Given the description of an element on the screen output the (x, y) to click on. 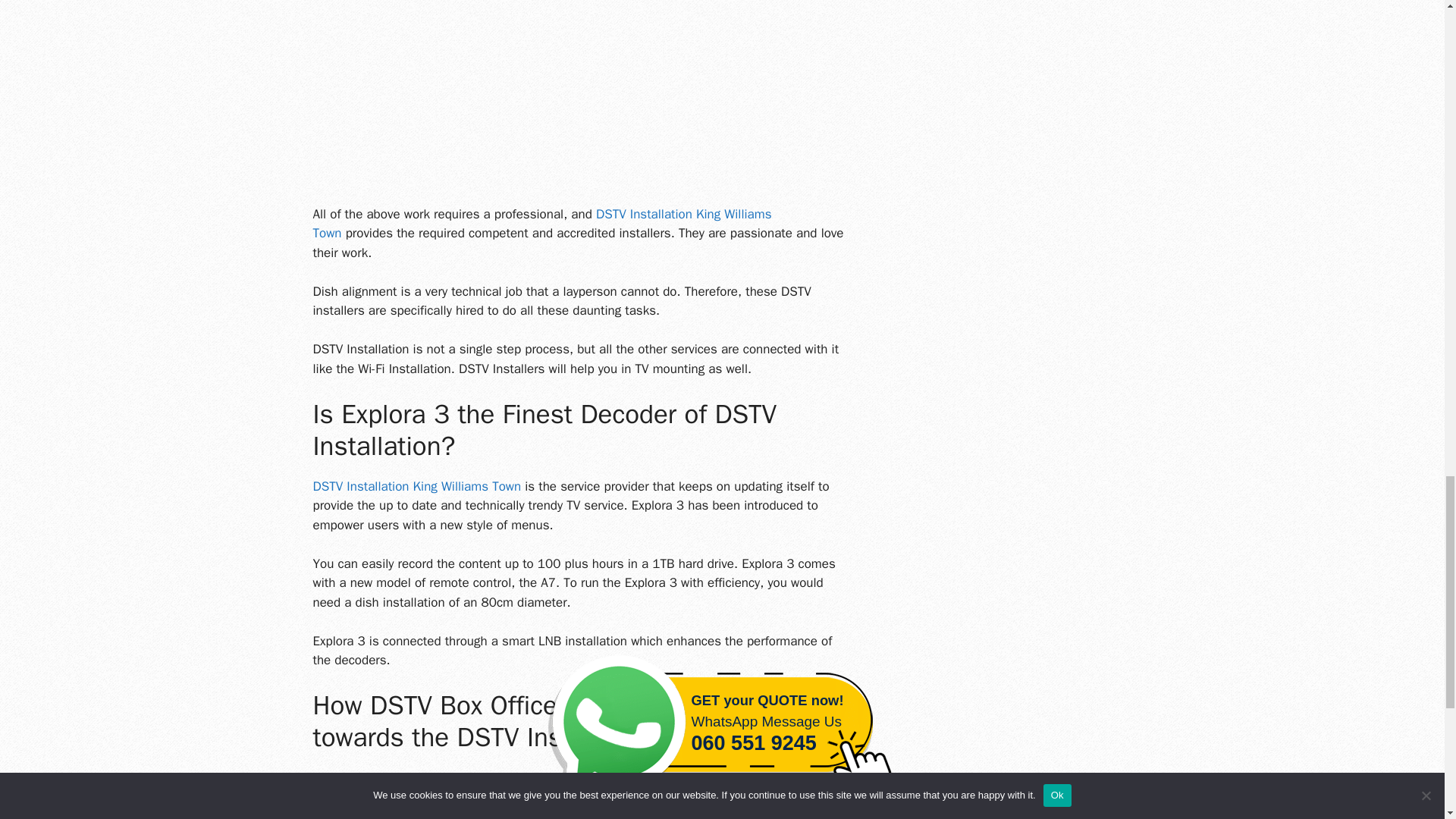
DSTV Installation King Williams Town (417, 486)
DSTV Installation King Williams Town (542, 223)
